Given the description of an element on the screen output the (x, y) to click on. 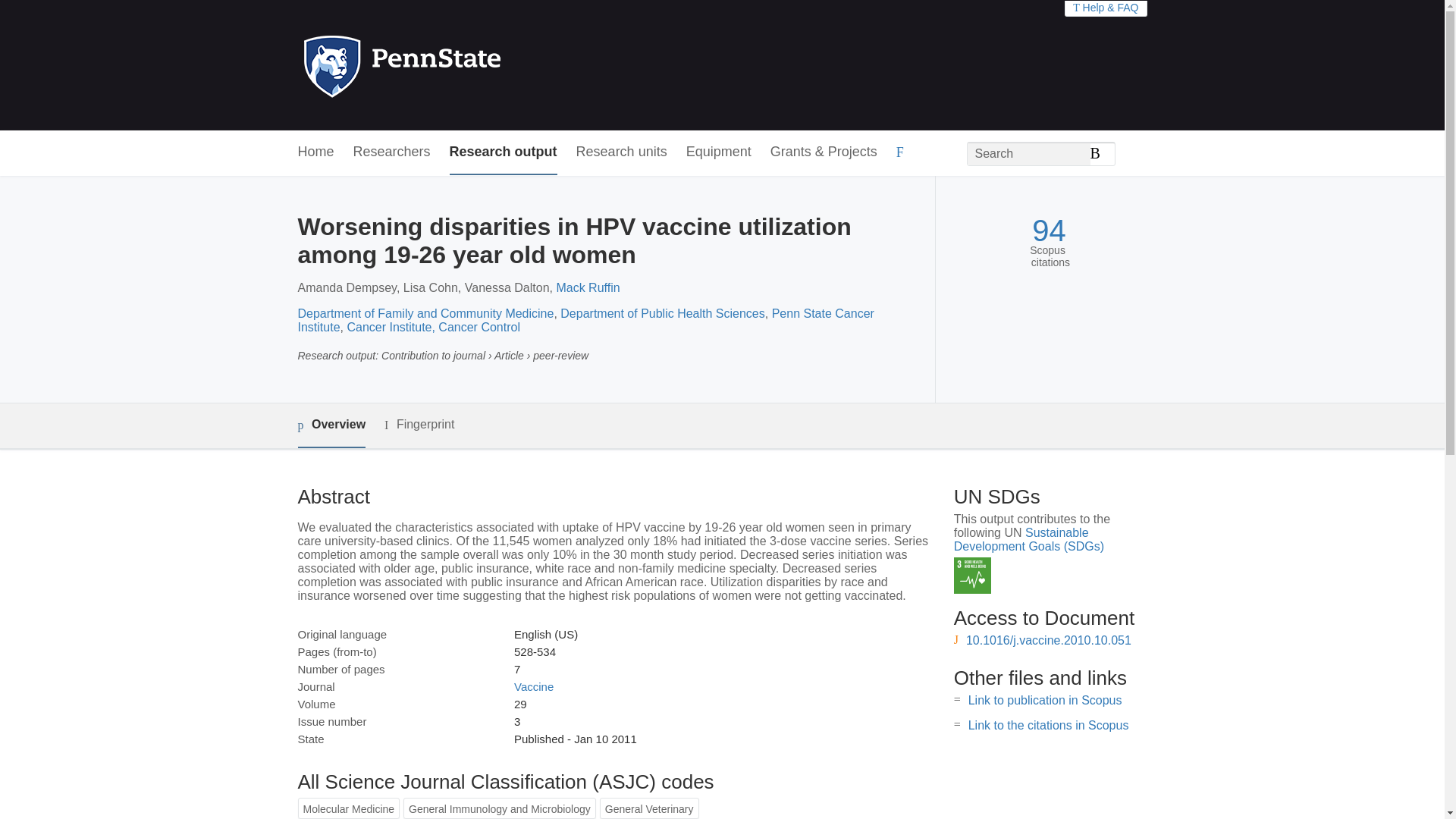
94 (1048, 230)
Department of Public Health Sciences (662, 313)
Penn State Cancer Institute (585, 320)
Fingerprint (419, 424)
Vaccine (533, 686)
Research output (503, 152)
SDG 3 - Good Health and Well-being (972, 575)
Department of Family and Community Medicine (425, 313)
Research units (621, 152)
Link to publication in Scopus (1045, 699)
Link to the citations in Scopus (1048, 725)
Equipment (718, 152)
Researchers (391, 152)
Overview (331, 425)
Penn State Home (467, 65)
